Given the description of an element on the screen output the (x, y) to click on. 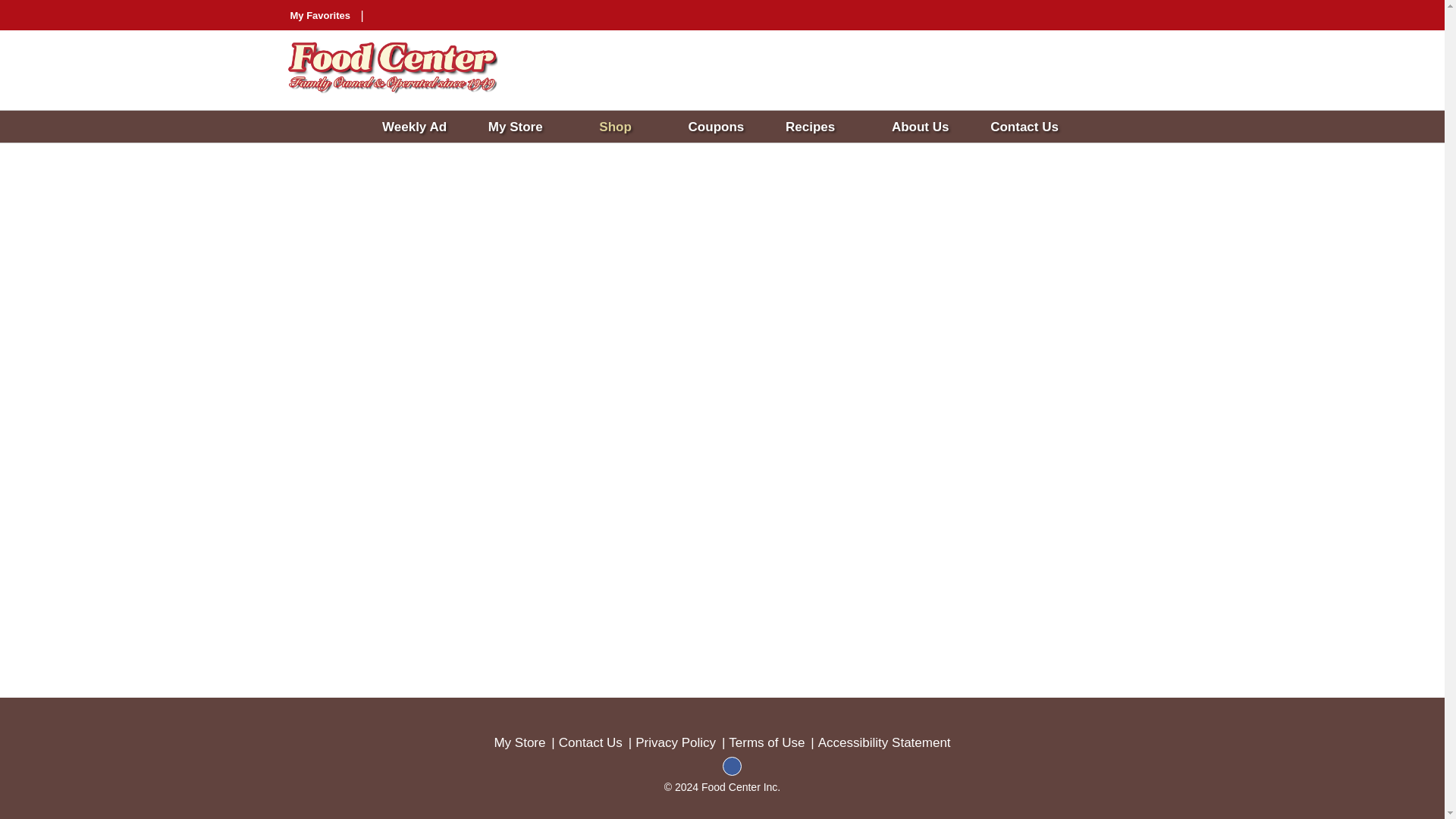
Accessibility Statement (884, 743)
My Store (530, 127)
Weekly Ad (421, 127)
Privacy Policy (675, 743)
About Us (927, 127)
My Store (518, 743)
Contact Us (591, 743)
Recipes (825, 127)
Terms of Use (767, 743)
My Favorites  (320, 15)
facebook (731, 771)
Shop (630, 127)
Contact Us (1030, 127)
Coupons (724, 127)
